Given the description of an element on the screen output the (x, y) to click on. 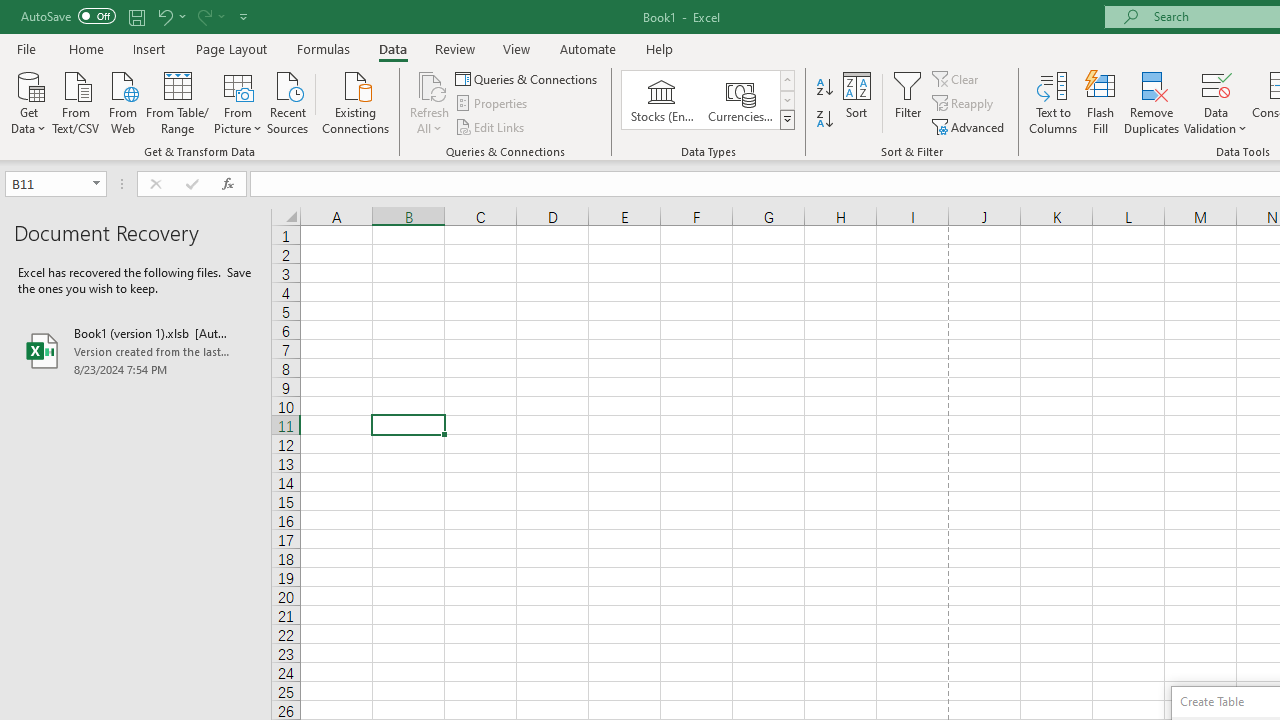
Existing Connections (355, 101)
AutomationID: ConvertToLinkedEntity (708, 99)
Flash Fill (1101, 102)
Sort Z to A (824, 119)
From Text/CSV (75, 101)
Stocks (English) (662, 100)
Queries & Connections (527, 78)
